Given the description of an element on the screen output the (x, y) to click on. 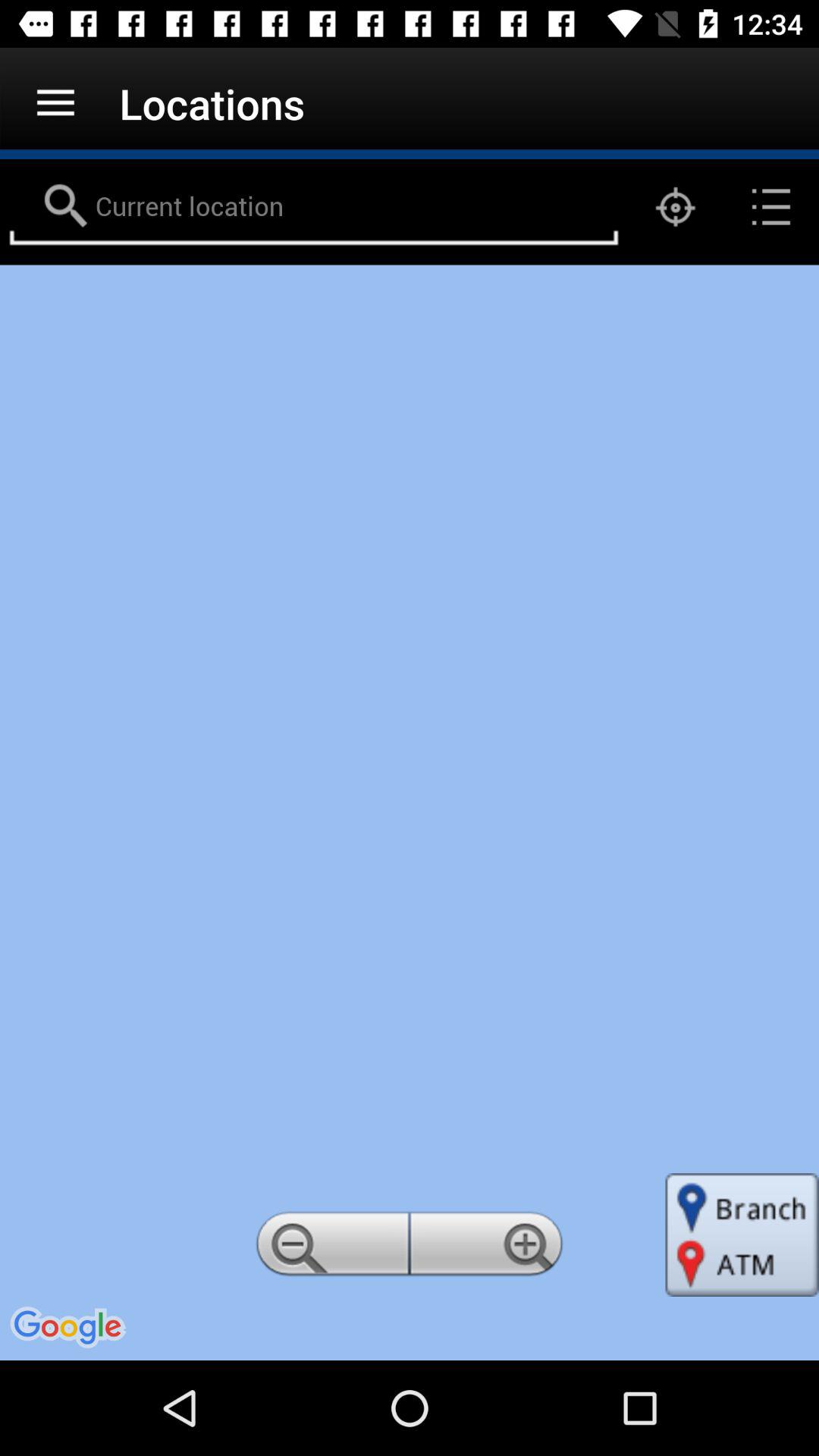
making photo smaller (329, 1248)
